Given the description of an element on the screen output the (x, y) to click on. 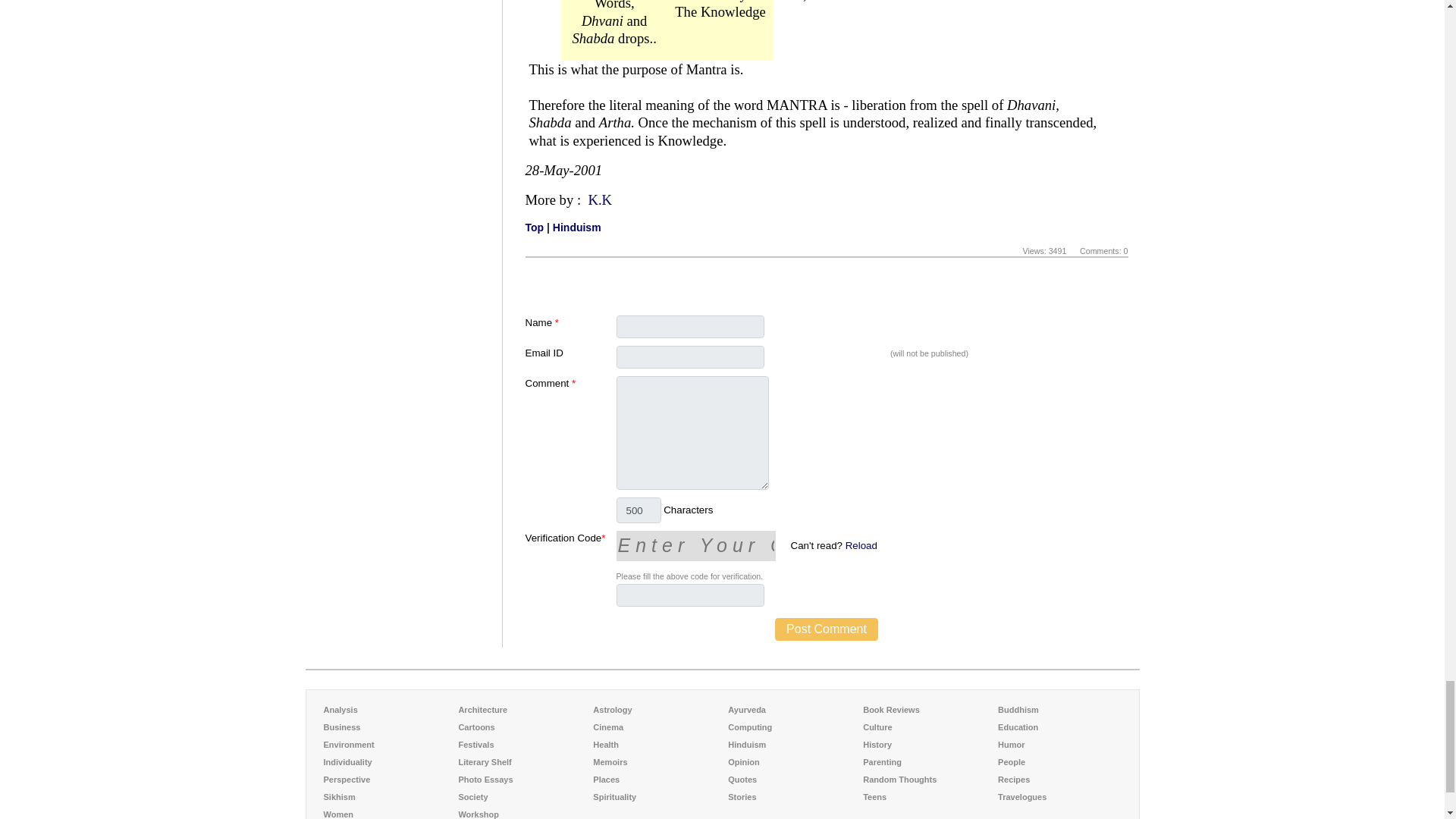
500 (638, 510)
Post Comment (825, 629)
